Given the description of an element on the screen output the (x, y) to click on. 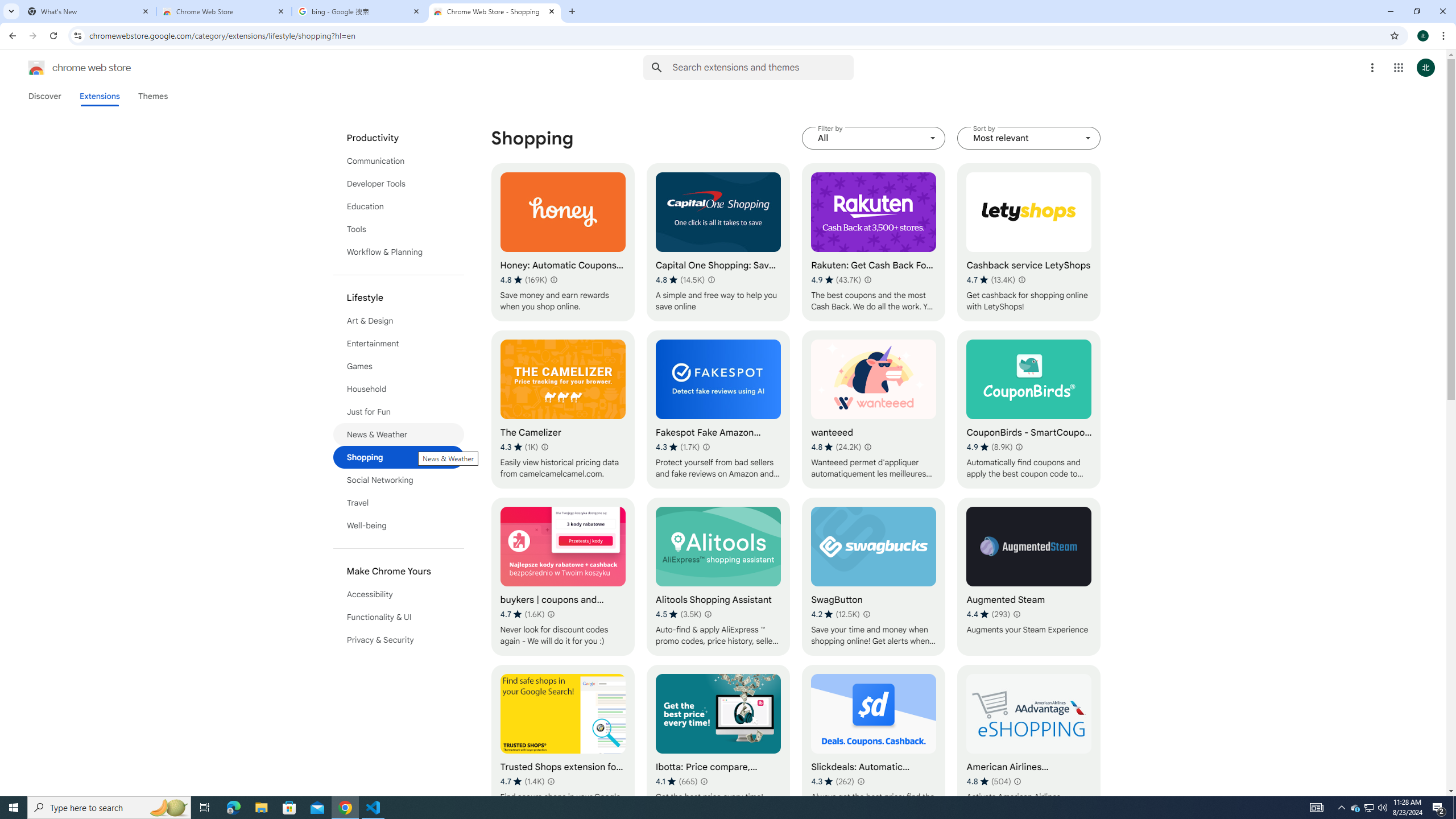
Cashback service LetyShops (1028, 241)
Chrome Web Store logo (36, 67)
Average rating 4.7 out of 5 stars. 1.6K ratings. (521, 613)
Learn more about results and reviews "wanteeed" (866, 446)
Honey: Automatic Coupons & Rewards (562, 241)
Chrome Web Store (224, 11)
Average rating 4.9 out of 5 stars. 43.7K ratings. (835, 279)
Learn more about results and reviews "The Camelizer" (544, 446)
Average rating 4.4 out of 5 stars. 293 ratings. (988, 613)
Average rating 4.3 out of 5 stars. 1.7K ratings. (677, 446)
Average rating 4.8 out of 5 stars. 504 ratings. (988, 781)
Communication (398, 160)
